Given the description of an element on the screen output the (x, y) to click on. 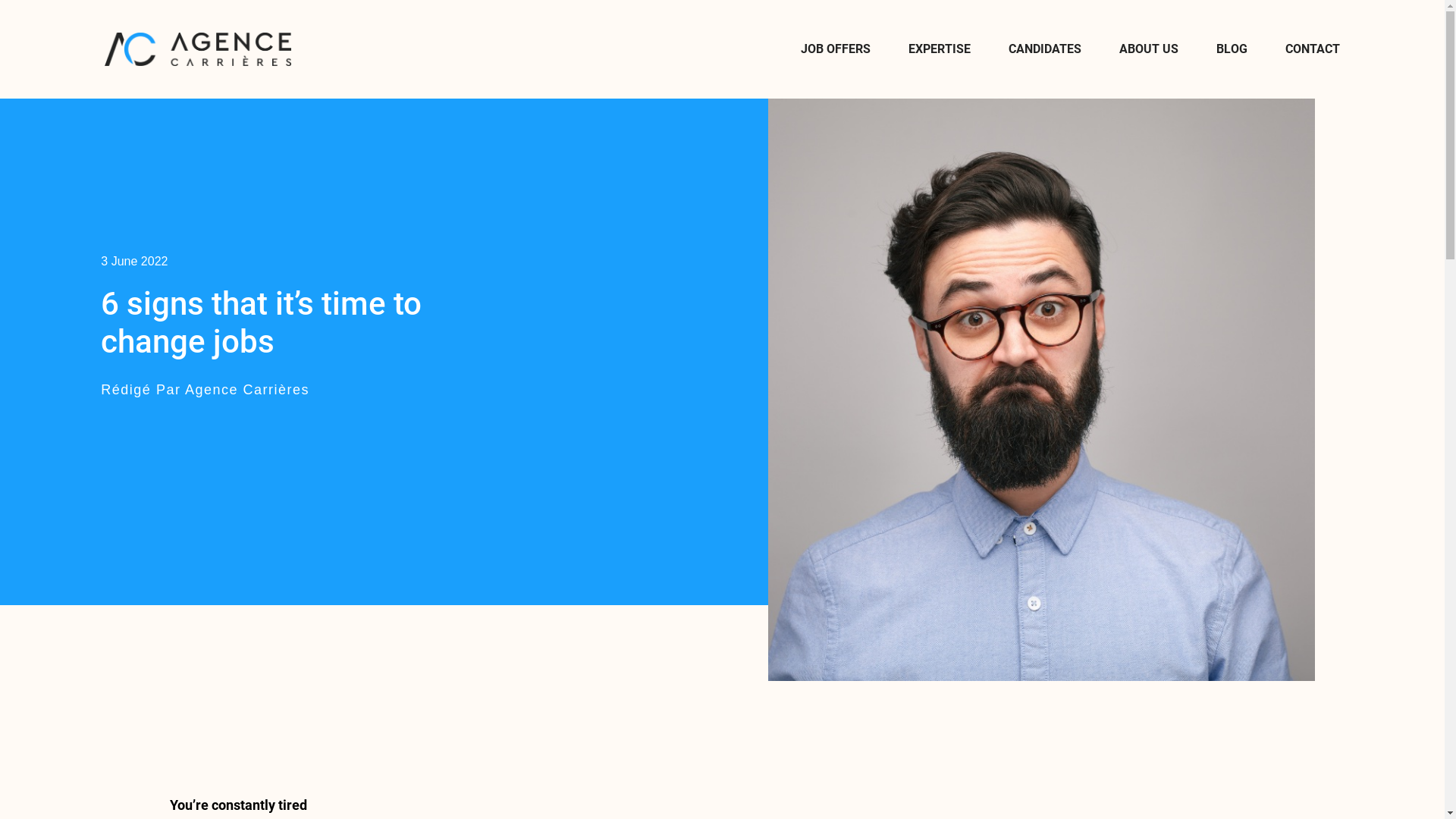
CONTACT Element type: text (1312, 48)
JOB OFFERS Element type: text (835, 48)
CANDIDATES Element type: text (1044, 48)
BLOG Element type: text (1231, 48)
EXPERTISE Element type: text (939, 48)
ABOUT US Element type: text (1148, 48)
